Given the description of an element on the screen output the (x, y) to click on. 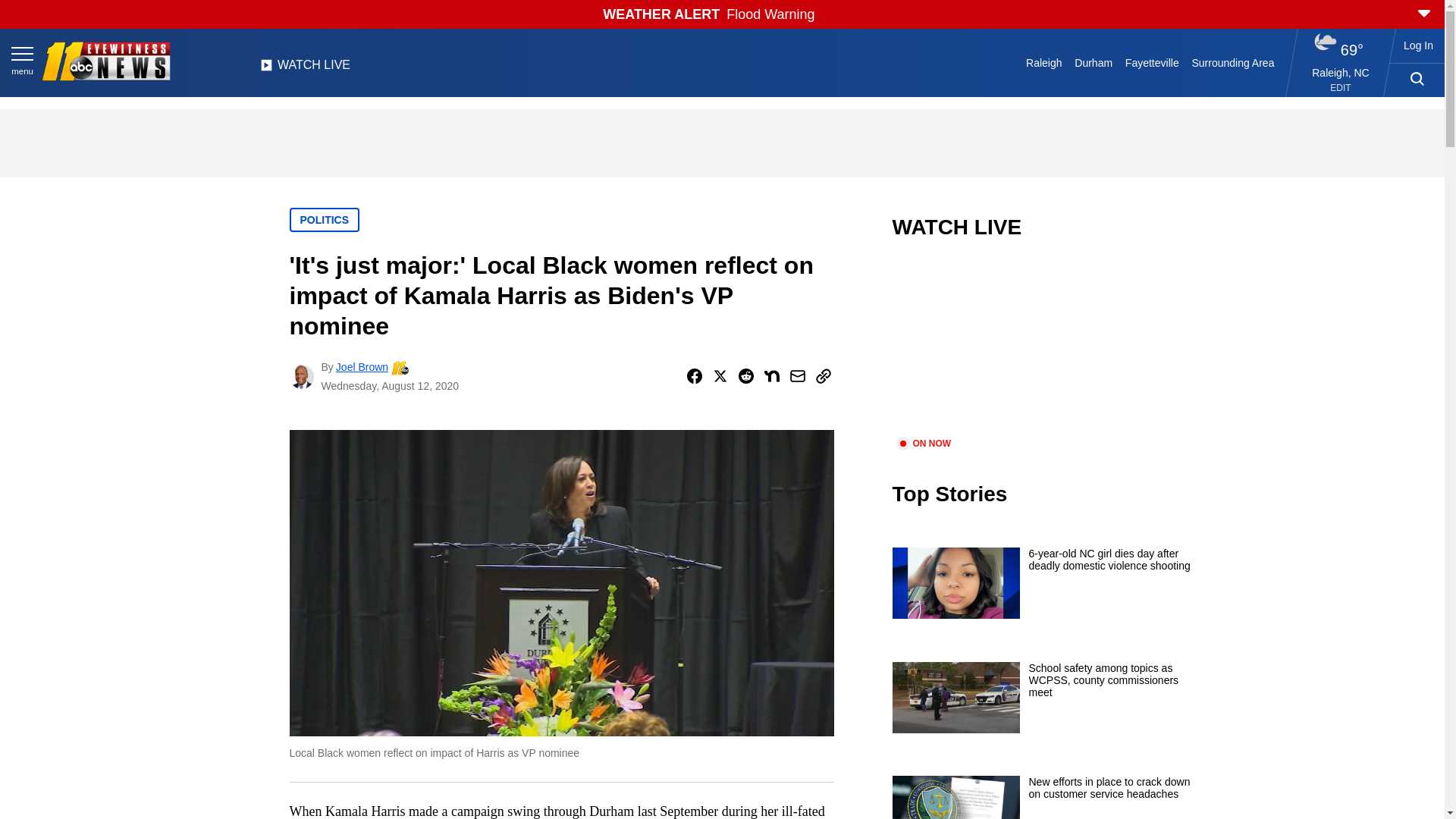
Raleigh, NC (1340, 72)
video.title (1043, 347)
Raleigh (1044, 62)
EDIT (1340, 87)
Surrounding Area (1233, 62)
Fayetteville (1151, 62)
WATCH LIVE (305, 69)
Durham (1093, 62)
